Given the description of an element on the screen output the (x, y) to click on. 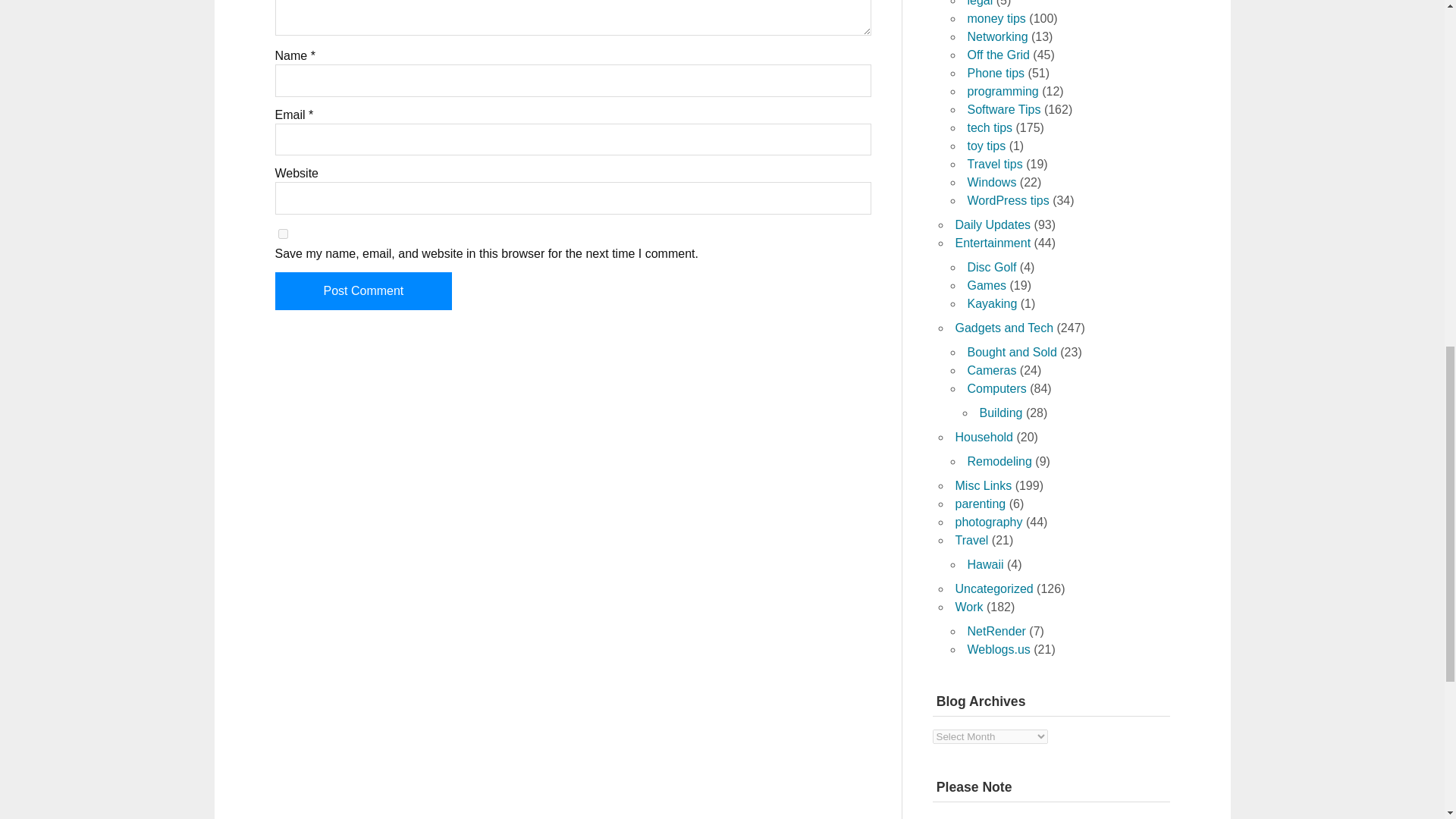
Off the Grid (998, 54)
money tips (997, 18)
yes (282, 234)
Phone tips (996, 72)
Post Comment (363, 290)
legal (980, 3)
programming (1003, 91)
Software Tips (1004, 109)
Networking (997, 36)
Post Comment (363, 290)
